Given the description of an element on the screen output the (x, y) to click on. 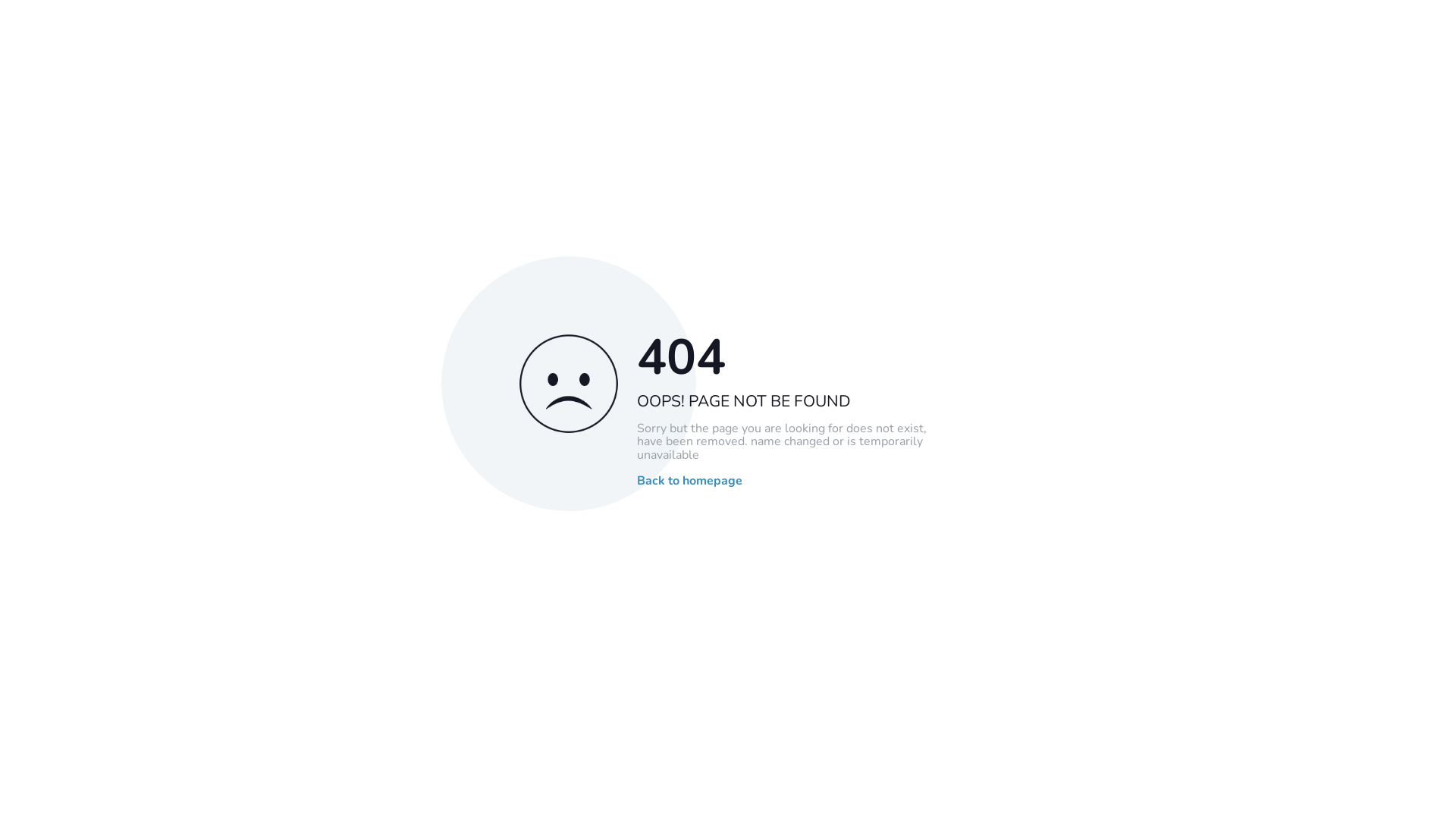
Back to homepage Element type: text (689, 481)
